Given the description of an element on the screen output the (x, y) to click on. 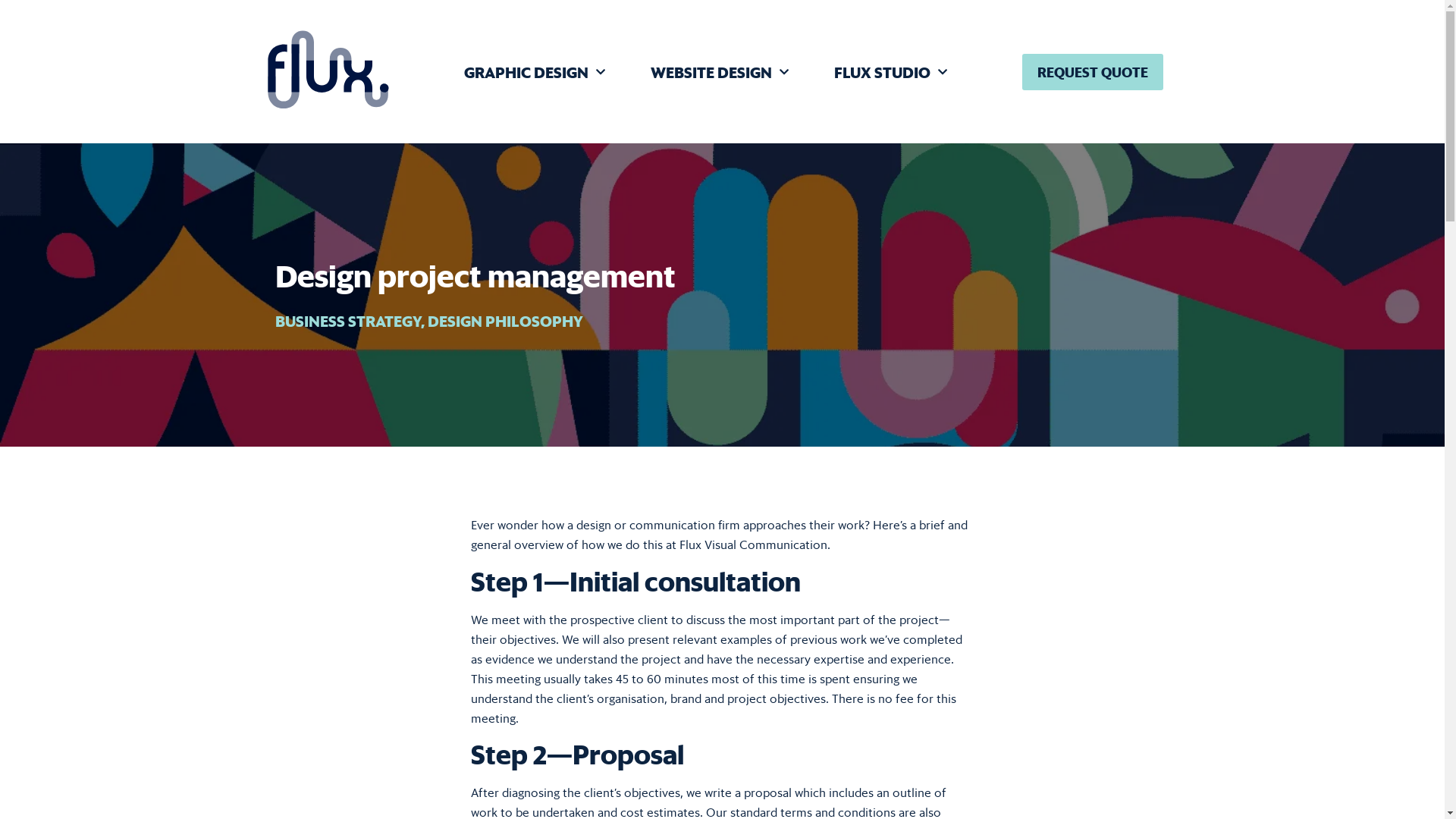
GRAPHIC DESIGN Element type: text (534, 71)
REQUEST QUOTE Element type: text (1092, 71)
BUSINESS STRATEGY Element type: text (347, 320)
DESIGN PHILOSOPHY Element type: text (505, 320)
WEBSITE DESIGN Element type: text (719, 71)
FLUX STUDIO Element type: text (890, 71)
